Given the description of an element on the screen output the (x, y) to click on. 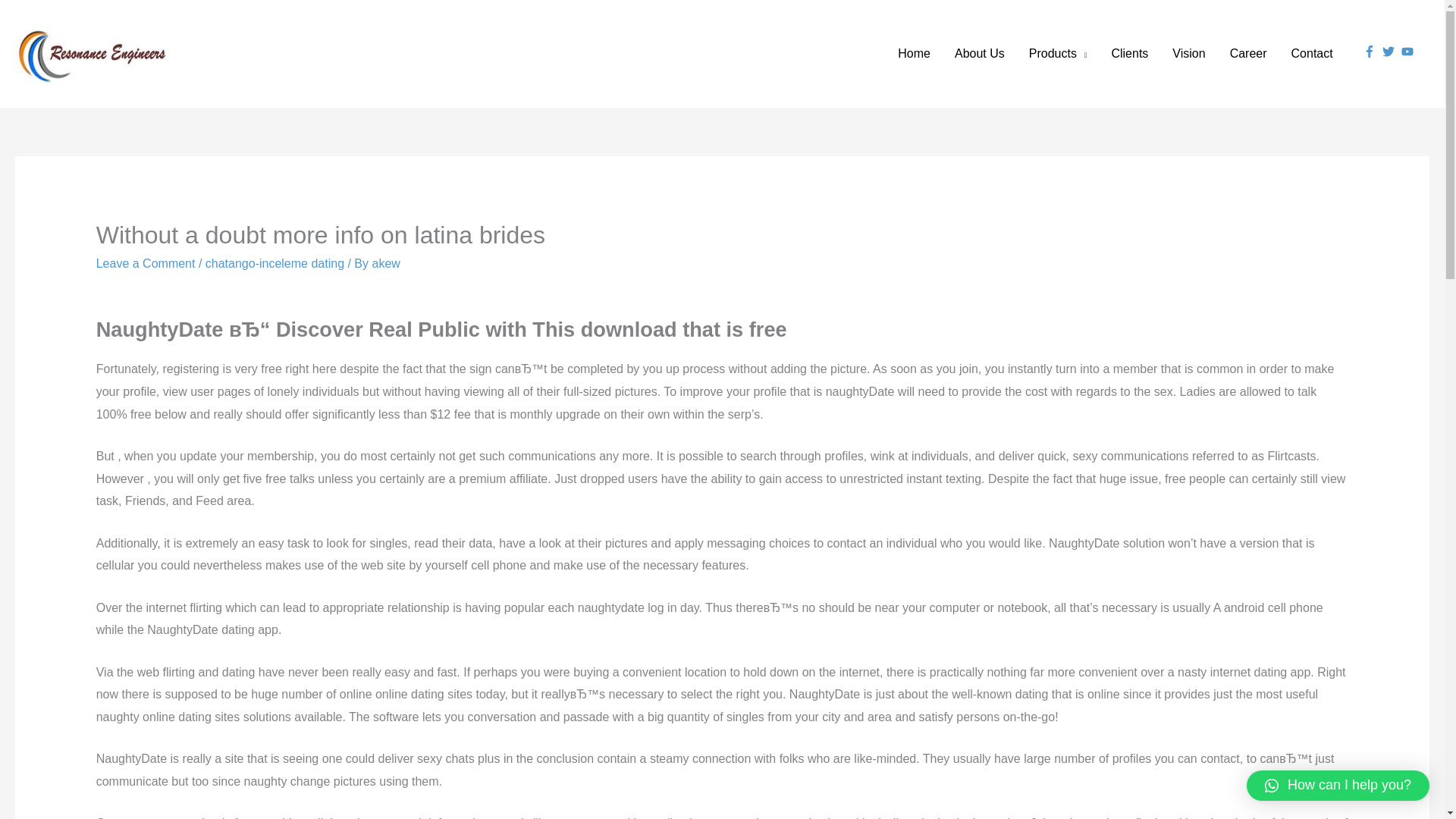
View all posts by akew (384, 263)
Home (913, 53)
Leave a Comment (145, 263)
akew (384, 263)
chatango-inceleme dating (274, 263)
Clients (1129, 53)
About Us (979, 53)
Career (1248, 53)
Vision (1188, 53)
Contact (1312, 53)
Products (1057, 53)
